Given the description of an element on the screen output the (x, y) to click on. 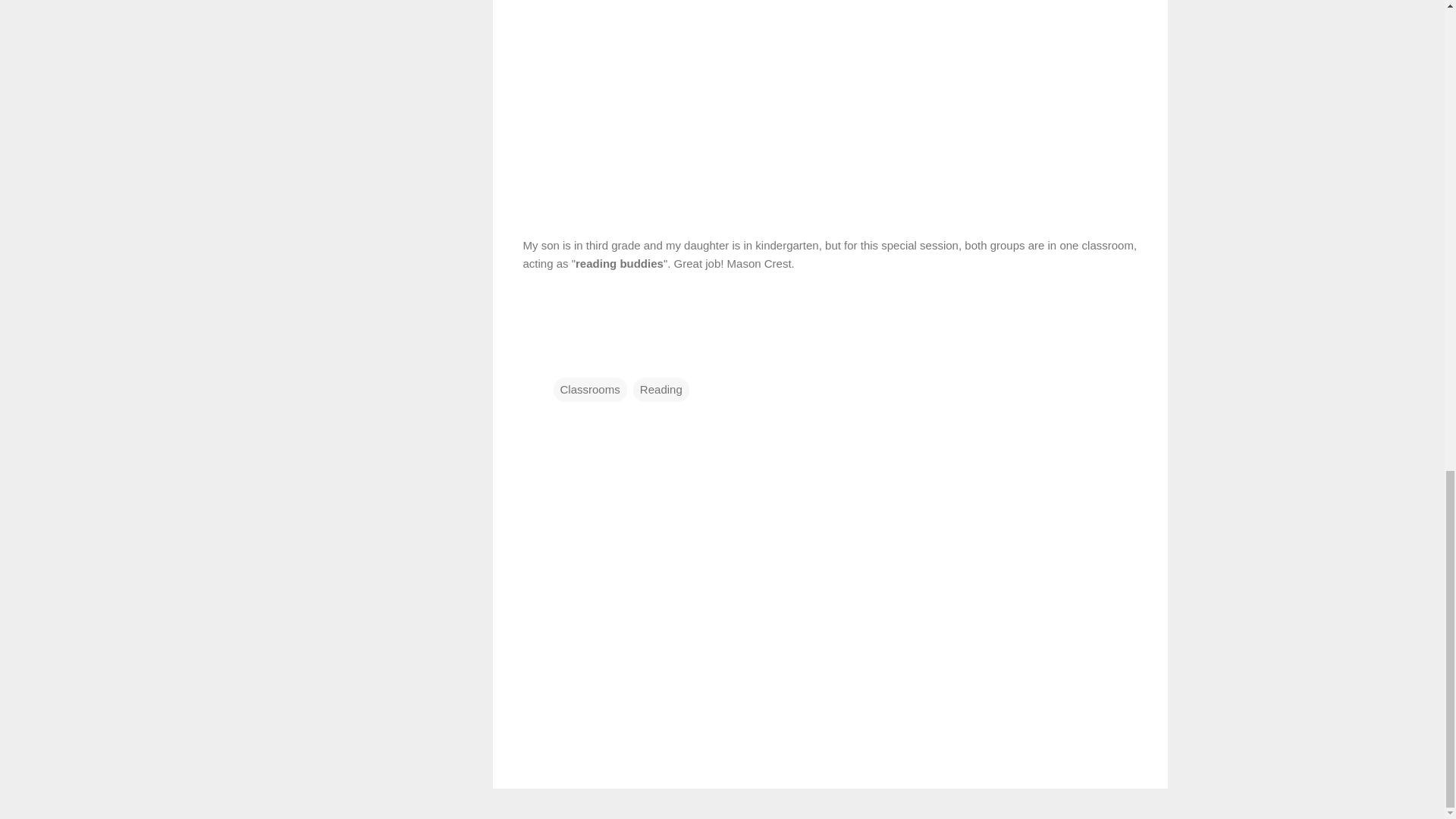
Reading (660, 388)
Classrooms (590, 388)
